Given the description of an element on the screen output the (x, y) to click on. 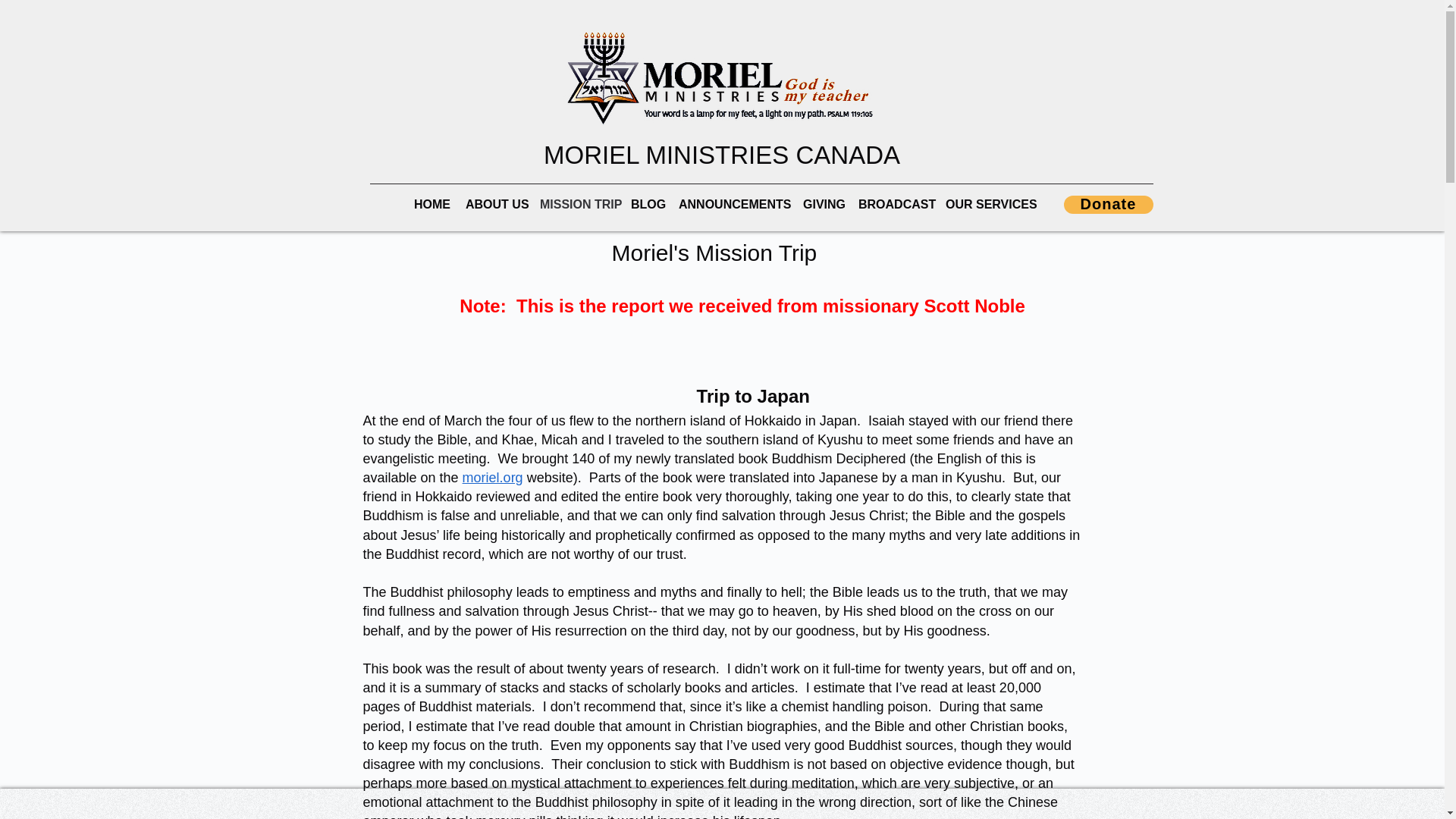
MISSION TRIP (577, 204)
MORIEL MINISTRIES CANADA (721, 154)
GIVING (822, 204)
BROADCAST (893, 204)
ANNOUNCEMENTS (732, 204)
moriel.org (492, 477)
HOME (432, 204)
BLOG (647, 204)
OUR SERVICES (985, 204)
Donate (1107, 204)
ABOUT US (495, 204)
